Given the description of an element on the screen output the (x, y) to click on. 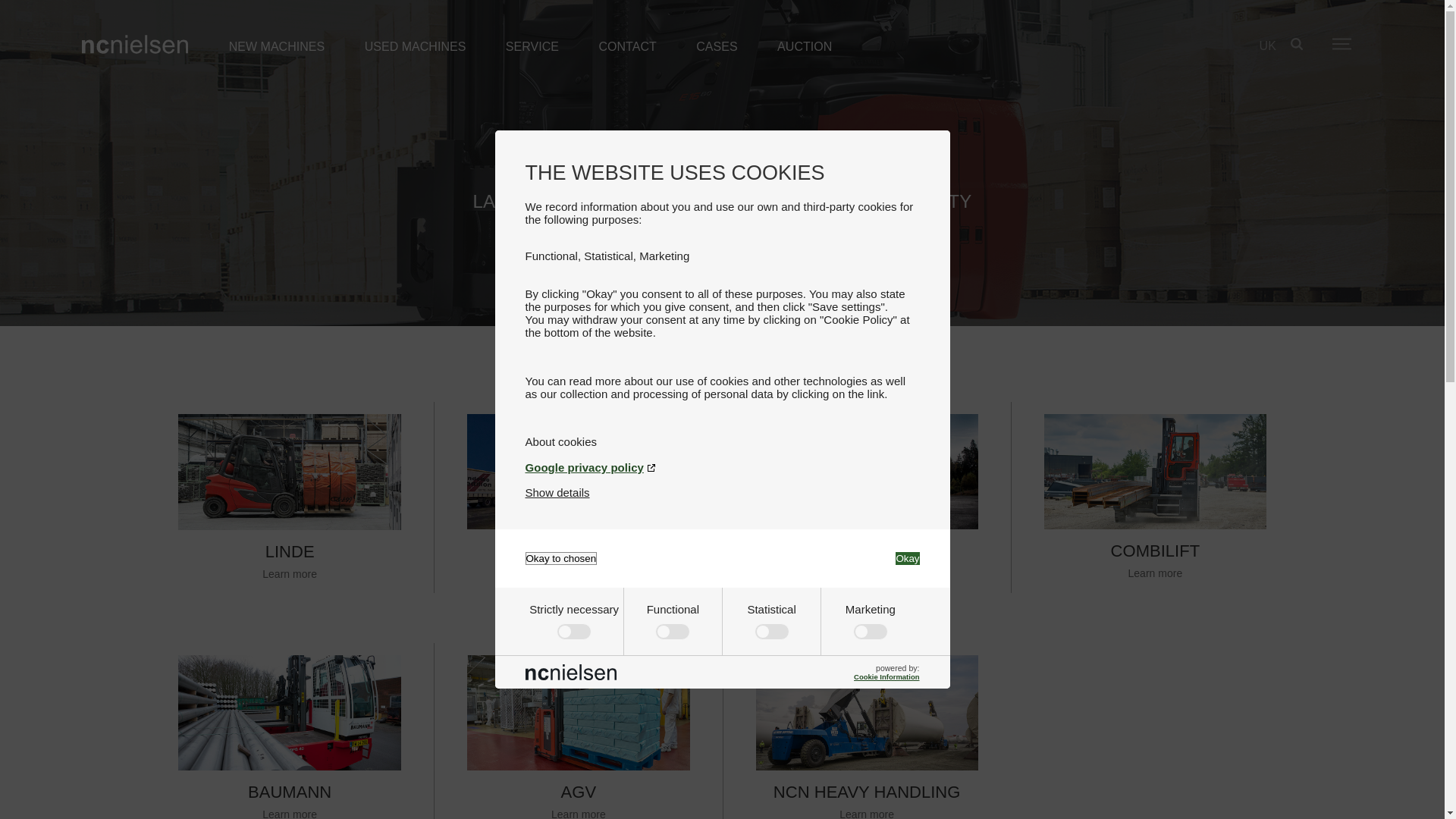
Google privacy policy (721, 467)
Show details (556, 492)
About cookies (721, 440)
